Given the description of an element on the screen output the (x, y) to click on. 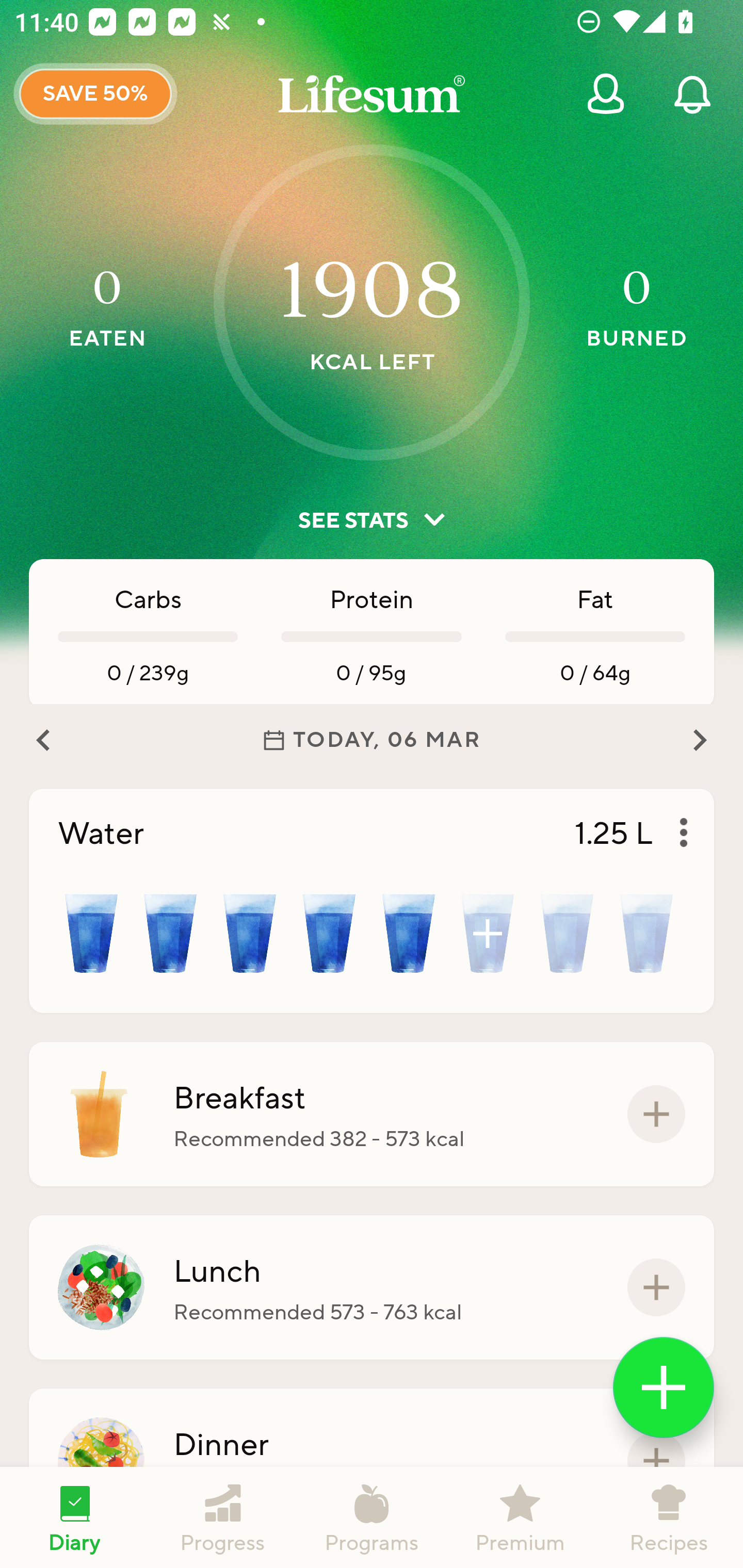
SEE STATS (371, 519)
TODAY, 06 MAR (371, 739)
Breakfast Recommended 382 - 573 kcal (371, 1113)
Lunch Recommended 573 - 763 kcal (371, 1287)
Dinner Recommended 573 - 763 kcal (371, 1461)
Progress (222, 1517)
Programs (371, 1517)
Premium (519, 1517)
Recipes (668, 1517)
